Given the description of an element on the screen output the (x, y) to click on. 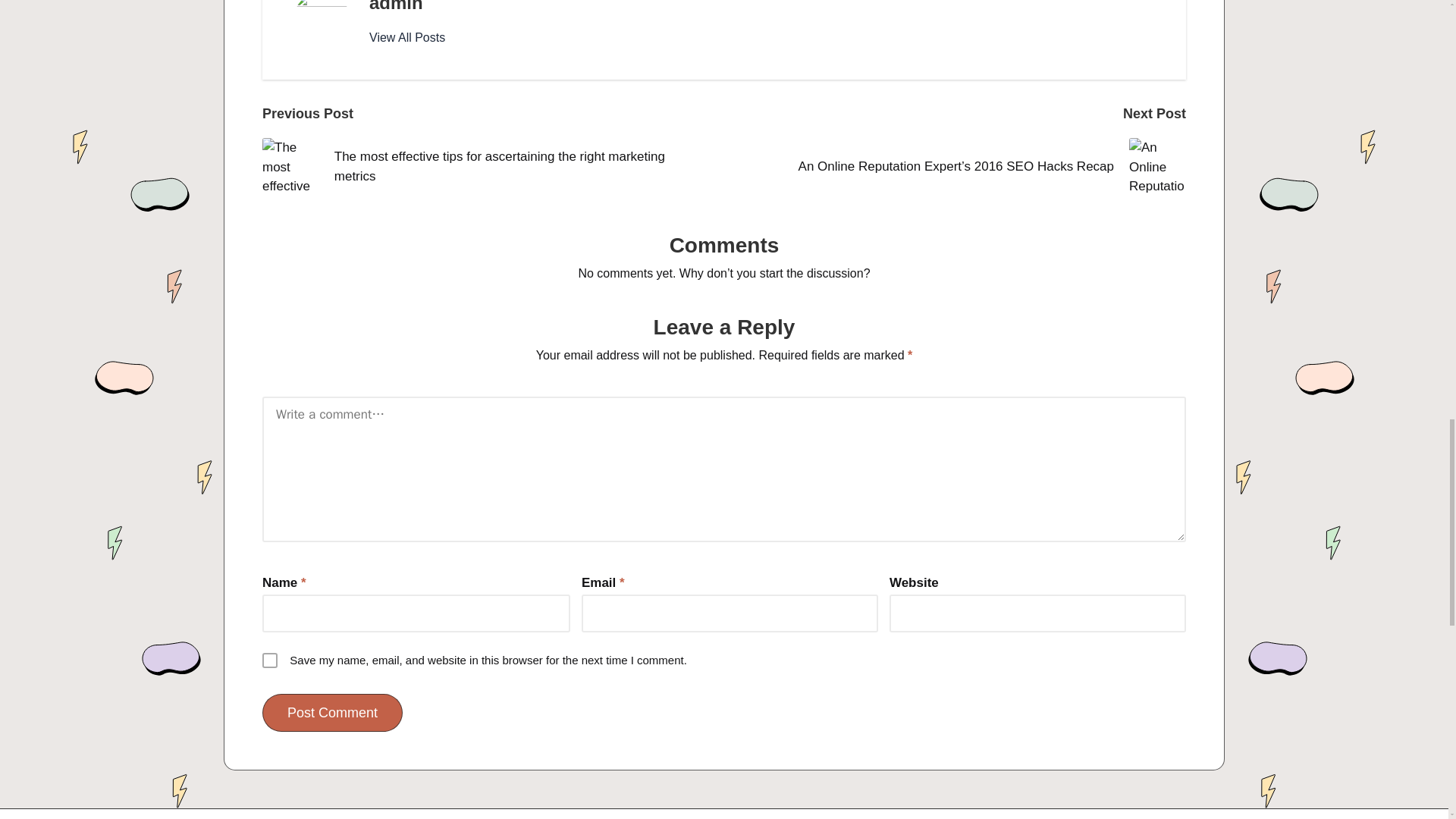
admin (396, 6)
View All Posts (407, 37)
Post Comment (332, 712)
yes (270, 660)
Post Comment (332, 712)
